Given the description of an element on the screen output the (x, y) to click on. 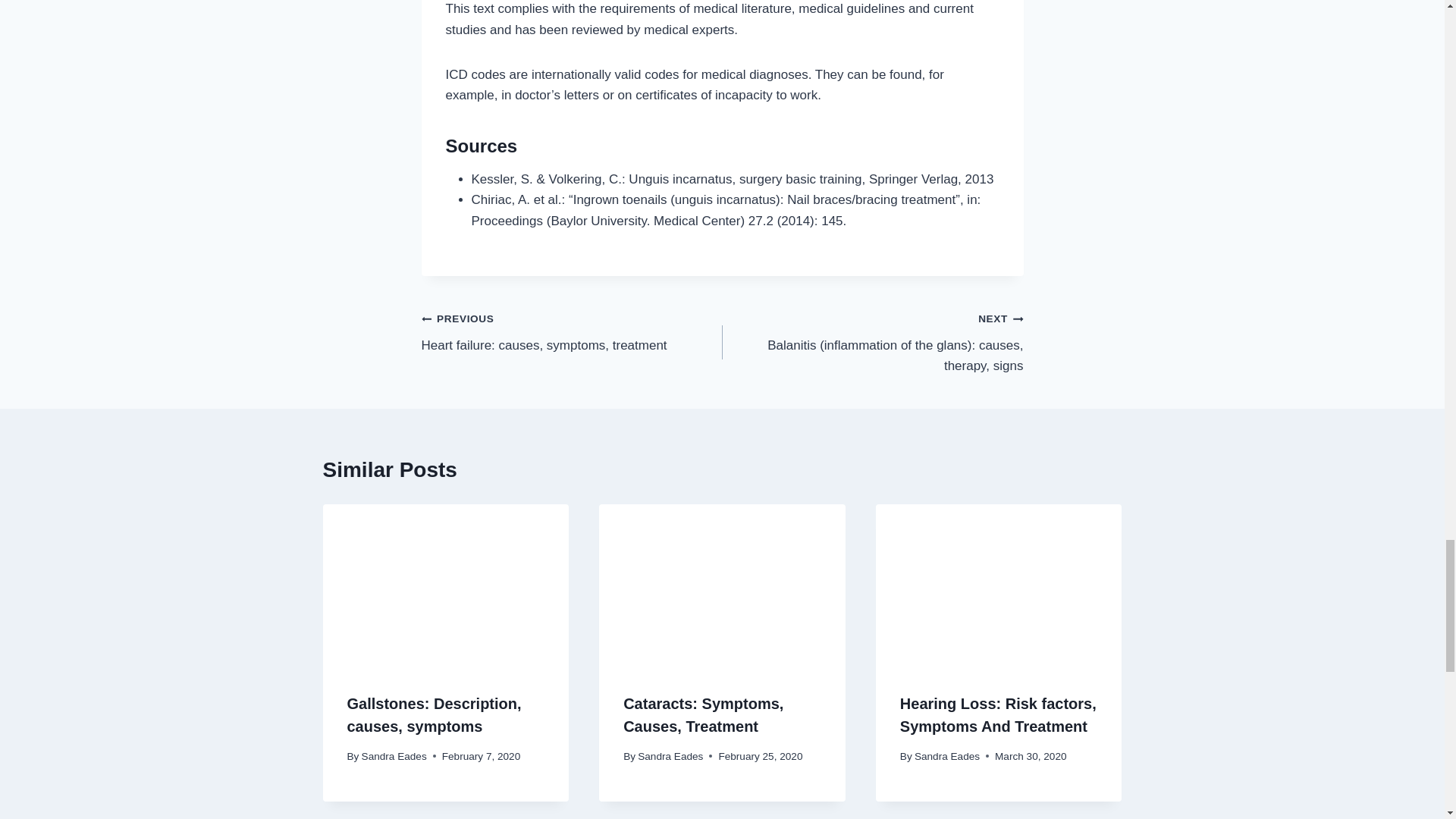
Sandra Eades (670, 756)
Sandra Eades (946, 756)
Sandra Eades (393, 756)
Gallstones: Description, causes, symptoms (434, 714)
Cataracts: Symptoms, Causes, Treatment (703, 714)
Hearing Loss: Risk factors, Symptoms And Treatment (572, 331)
